Given the description of an element on the screen output the (x, y) to click on. 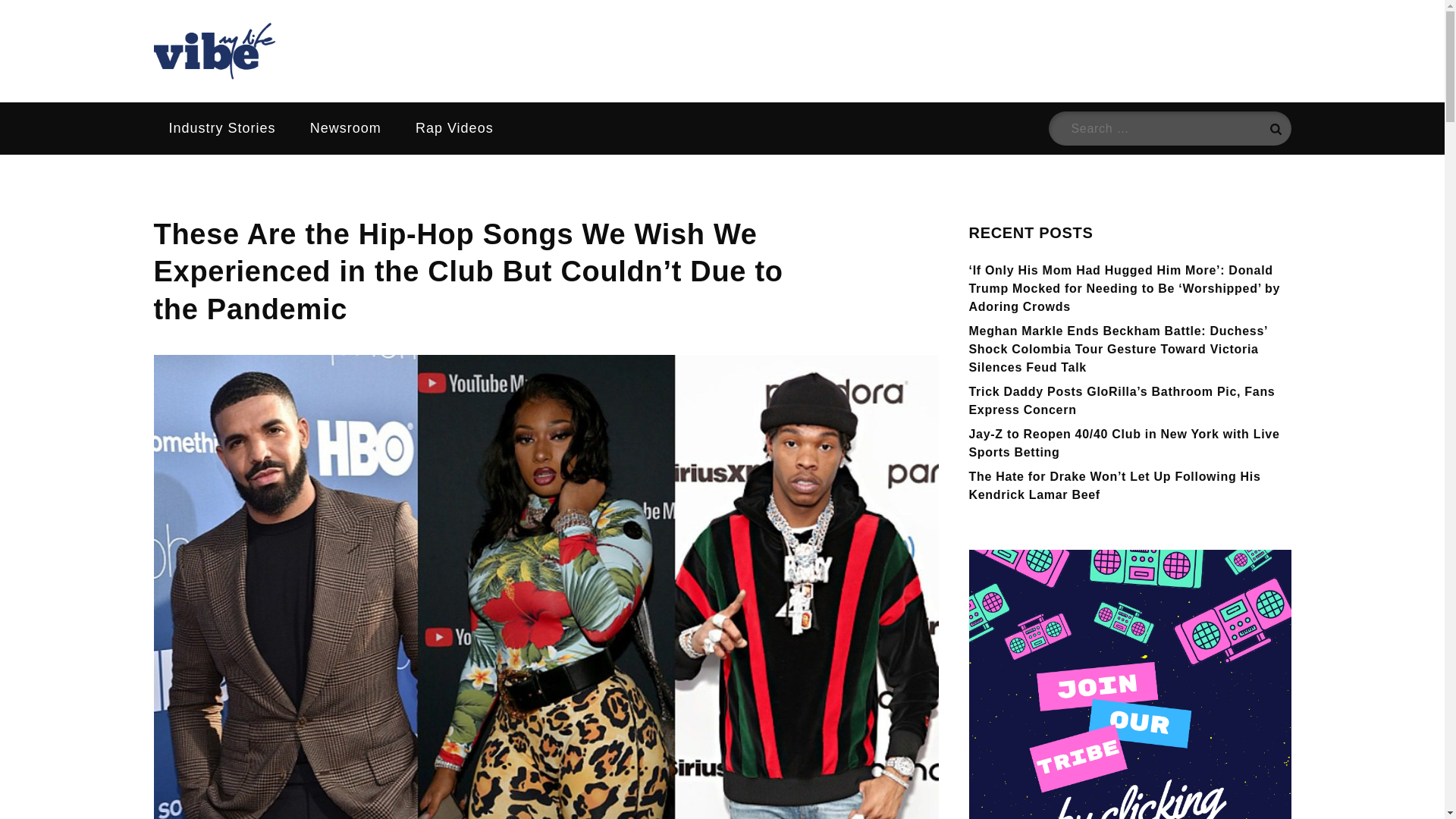
Newsroom (345, 127)
Search (1274, 128)
Industry Stories (220, 127)
Vibe My Life (255, 96)
Rap Videos (454, 127)
